Given the description of an element on the screen output the (x, y) to click on. 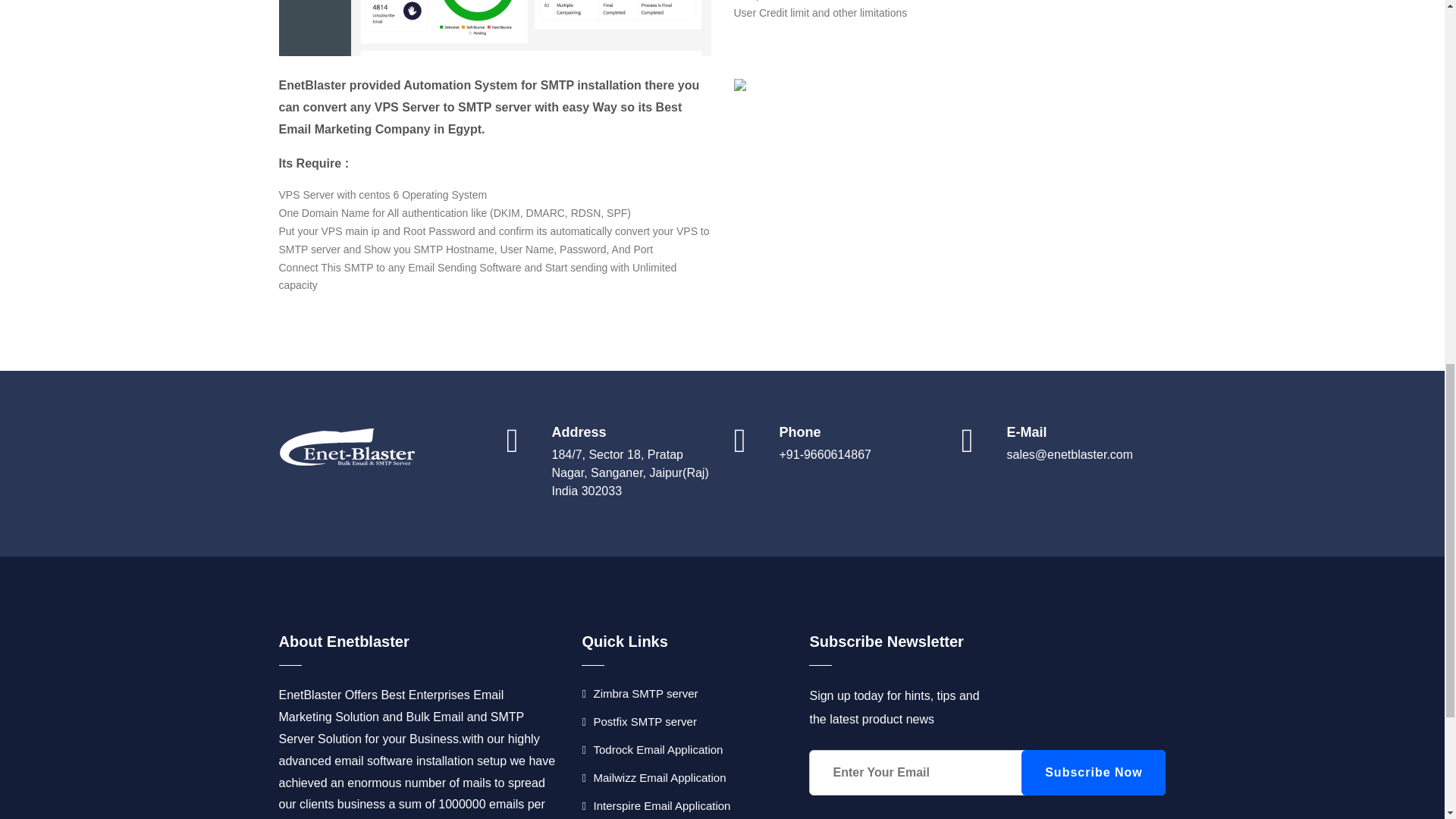
Todrock Email Application (651, 748)
Postfix SMTP server (637, 721)
Zimbra SMTP server (638, 693)
